Given the description of an element on the screen output the (x, y) to click on. 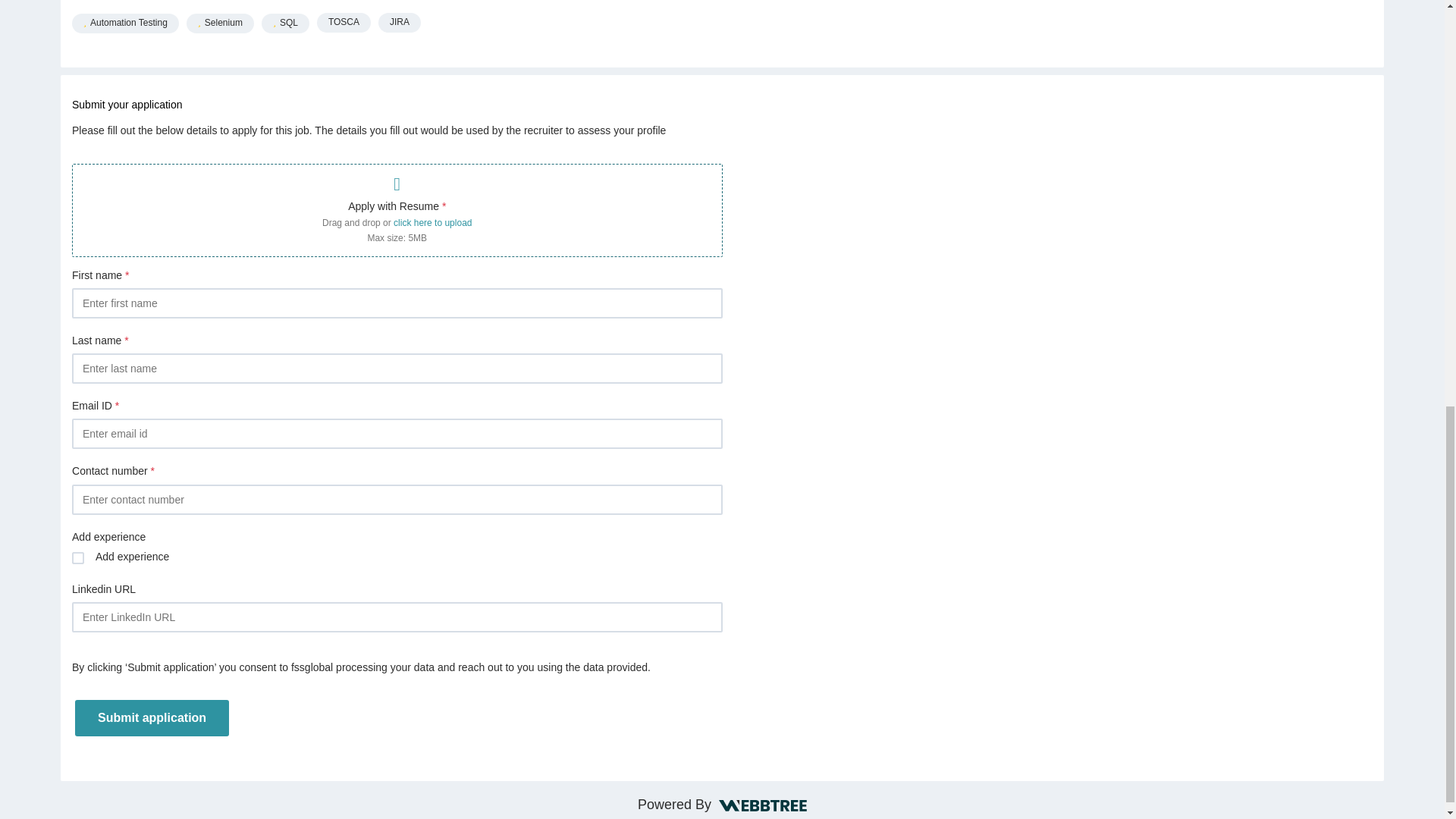
experience (77, 558)
Submit application (151, 717)
